Given the description of an element on the screen output the (x, y) to click on. 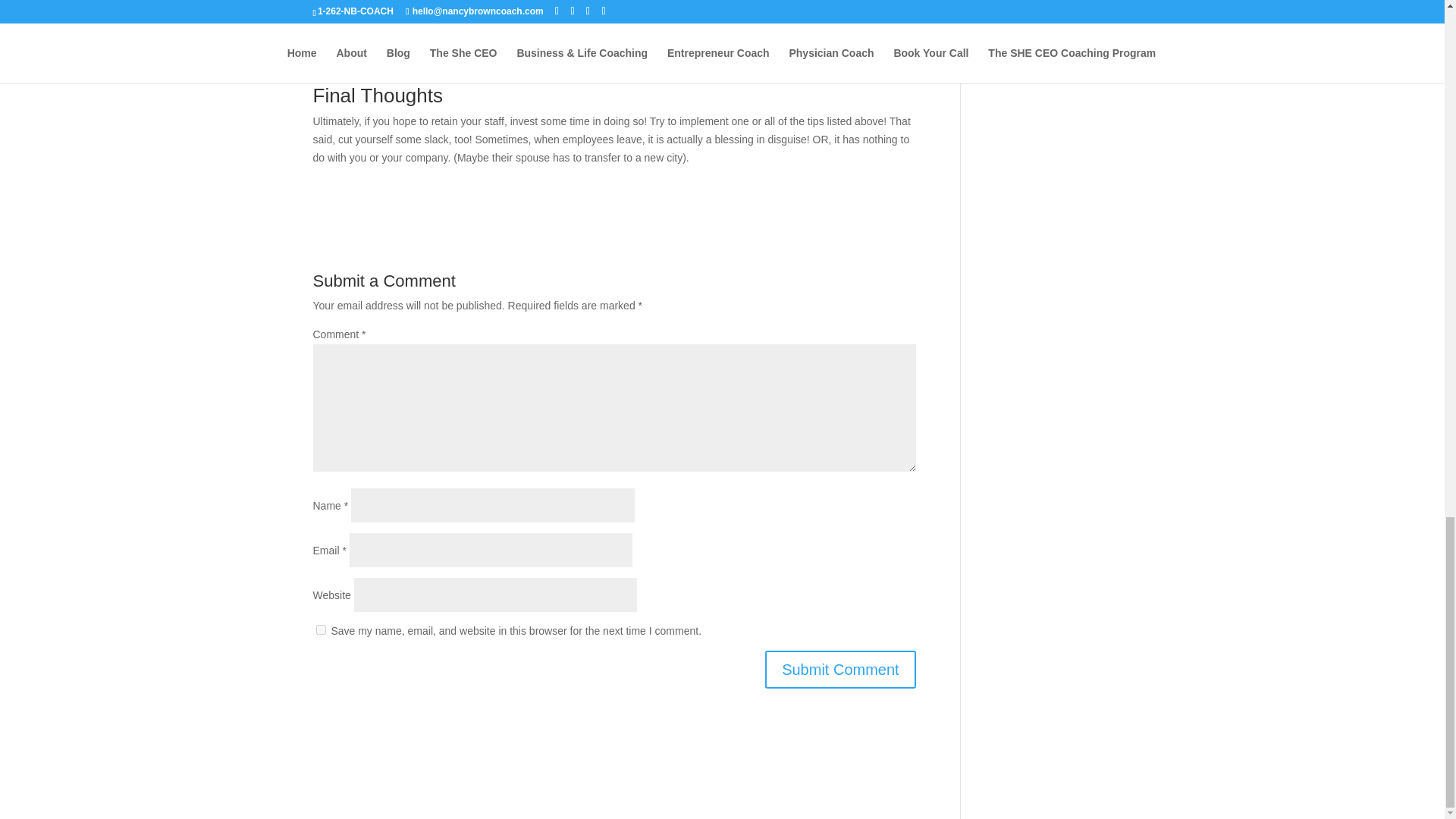
Submit Comment (840, 669)
Submit Comment (840, 669)
yes (319, 629)
